Given the description of an element on the screen output the (x, y) to click on. 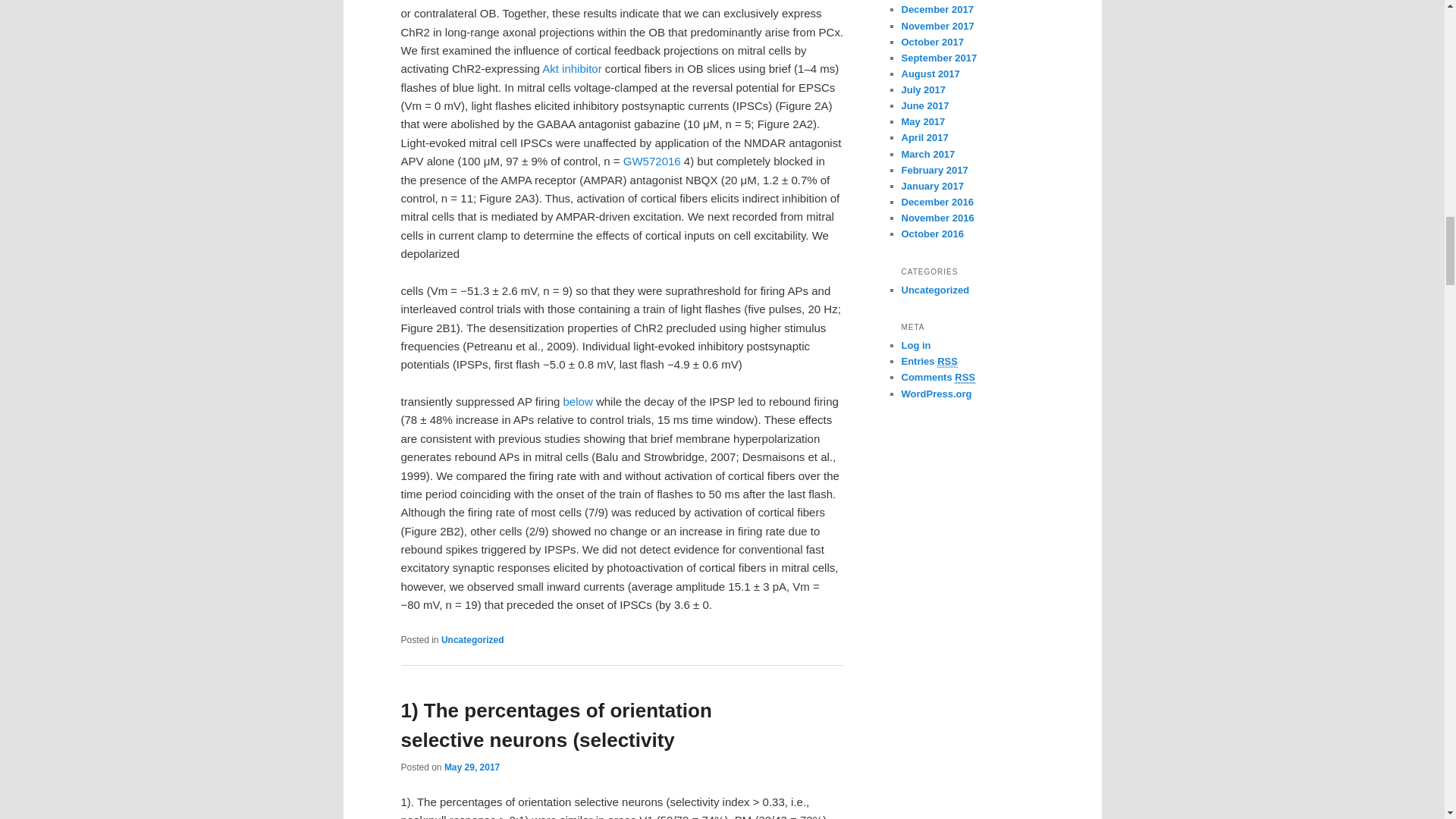
GW572016 (652, 160)
May 29, 2017 (471, 767)
below (577, 400)
View all posts in Uncategorized (472, 639)
Uncategorized (472, 639)
Akt inhibitor (571, 68)
